Given the description of an element on the screen output the (x, y) to click on. 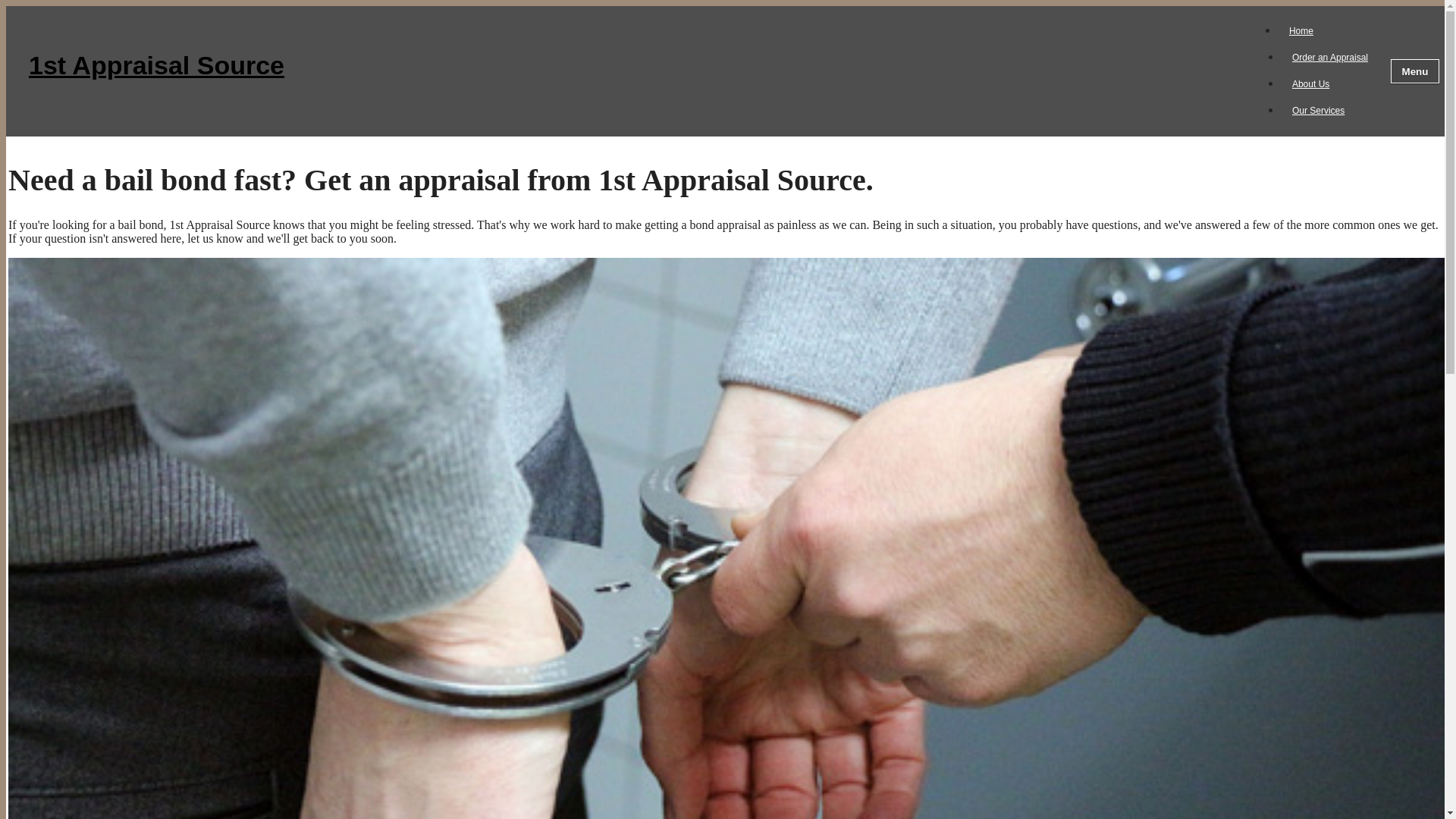
About Us Element type: text (1310, 83)
Order an Appraisal Element type: text (1329, 57)
1st Appraisal Source Element type: text (637, 71)
Our Services Element type: text (1317, 110)
Home Element type: text (1300, 30)
Menu Element type: text (1414, 71)
